Given the description of an element on the screen output the (x, y) to click on. 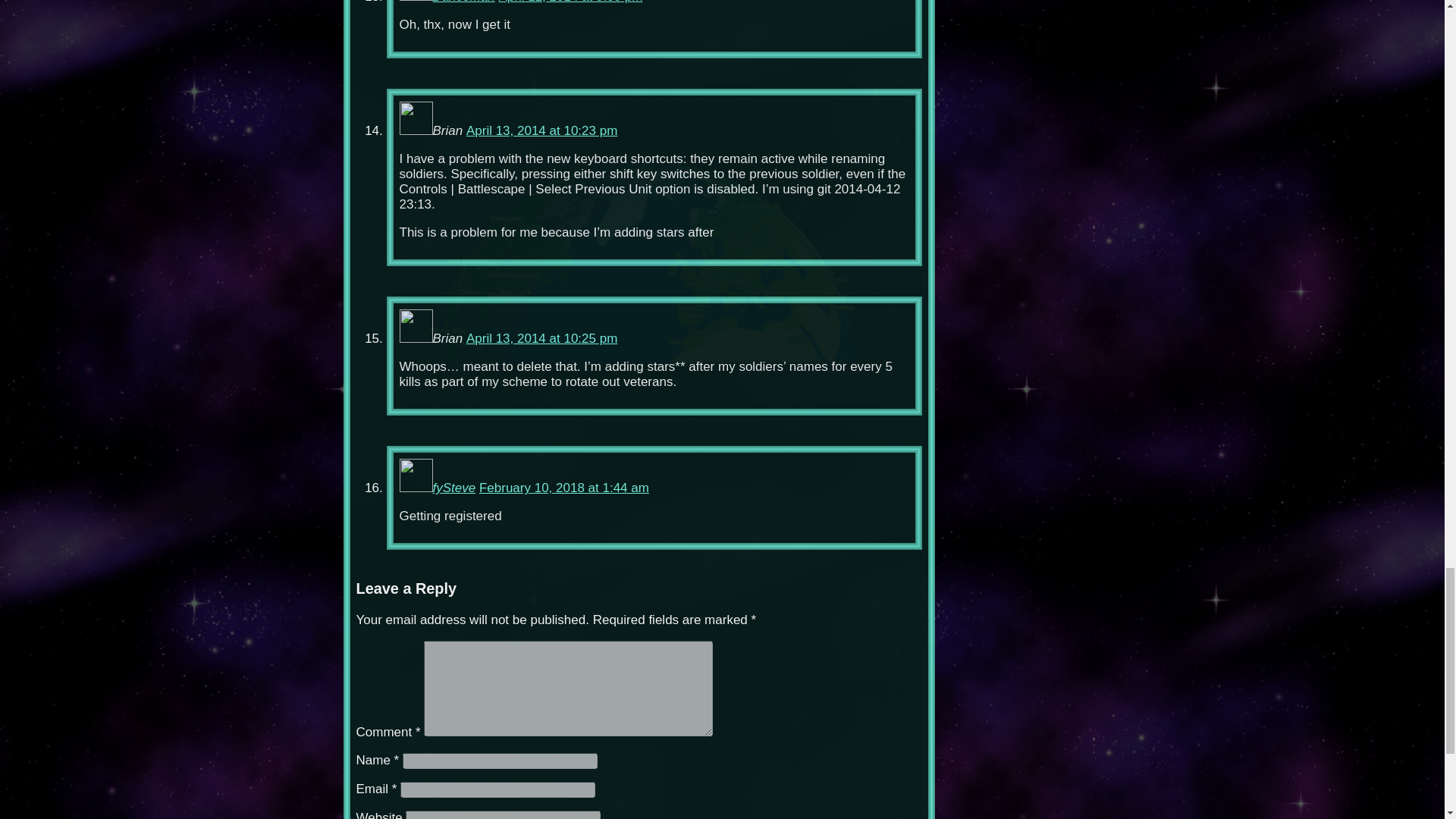
Danceman (463, 2)
April 13, 2014 at 10:25 pm (541, 338)
April 13, 2014 at 10:23 pm (541, 130)
February 10, 2018 at 1:44 am (564, 487)
fySteve (454, 487)
April 12, 2014 at 9:00 pm (569, 2)
